Given the description of an element on the screen output the (x, y) to click on. 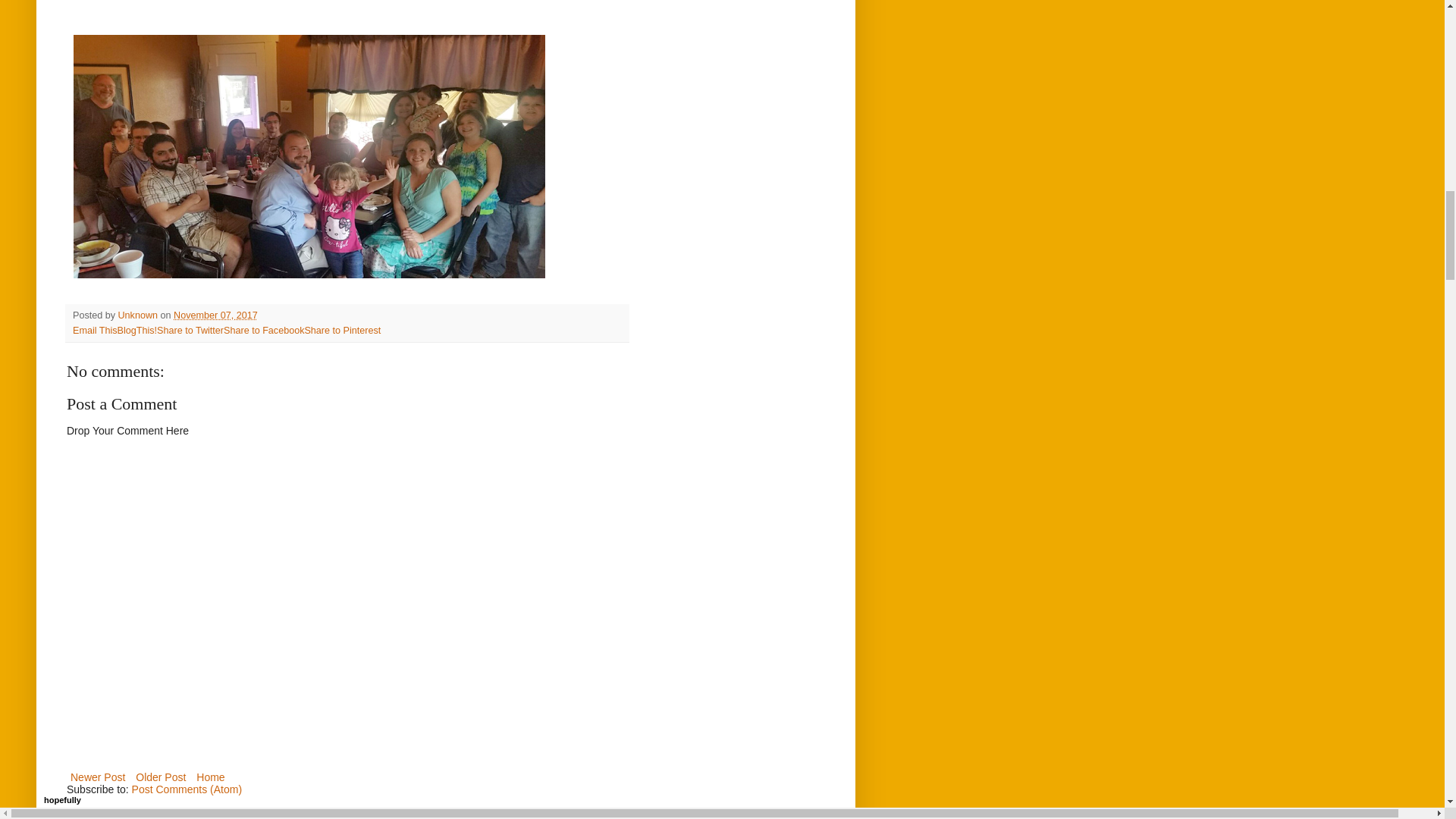
Newer Post (97, 777)
Share to Facebook (264, 330)
Share to Twitter (190, 330)
Home (210, 777)
Newer Post (97, 777)
Older Post (160, 777)
Share to Pinterest (342, 330)
Share to Facebook (264, 330)
Email This (94, 330)
BlogThis! (137, 330)
November 07, 2017 (215, 315)
Email This (94, 330)
author profile (138, 315)
Share to Twitter (190, 330)
Email Post (266, 315)
